Given the description of an element on the screen output the (x, y) to click on. 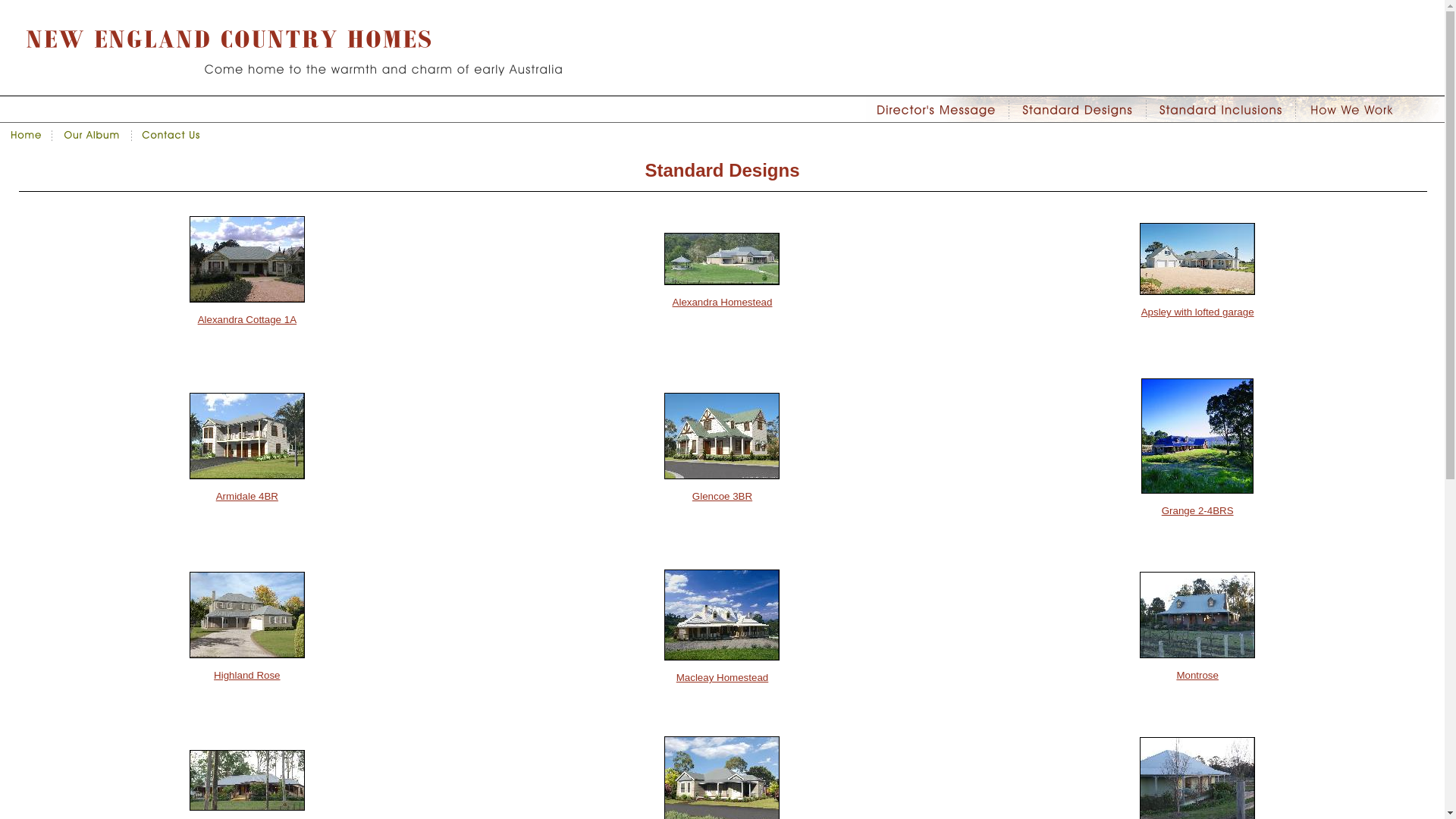
Highland Rose Element type: text (246, 682)
Montrose Element type: text (1197, 682)
Armidale 4BR Element type: text (246, 503)
Macleay Homestead Element type: text (721, 684)
Grange 2-4BRS Element type: text (1197, 517)
Alexandra Cottage 1A Element type: text (246, 326)
Apsley with lofted garage Element type: text (1197, 318)
Glencoe 3BR Element type: text (721, 503)
Alexandra Homestead Element type: text (721, 309)
